Given the description of an element on the screen output the (x, y) to click on. 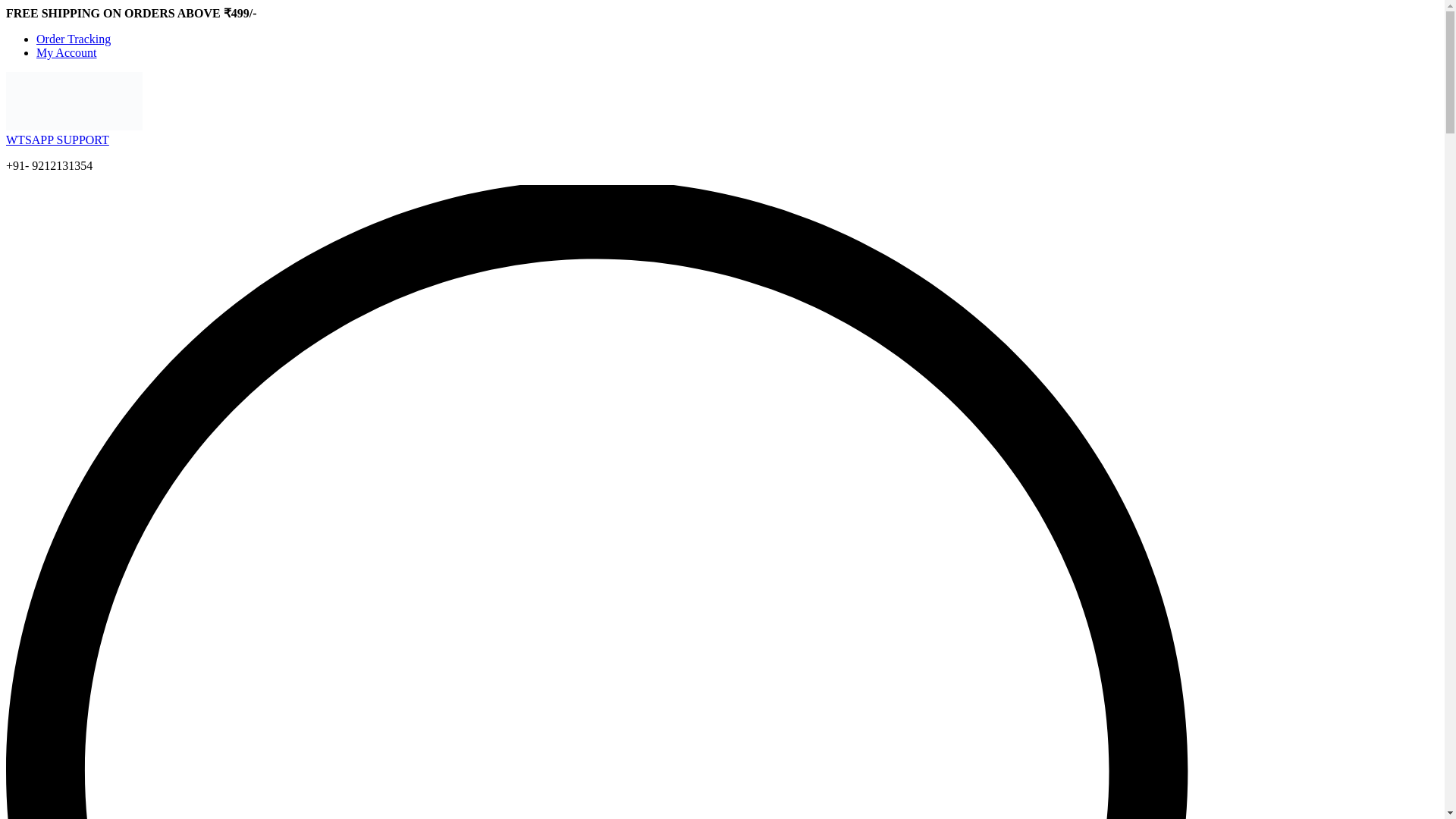
WTSAPP SUPPORT (57, 139)
Order Tracking (73, 38)
My Account (66, 51)
